Given the description of an element on the screen output the (x, y) to click on. 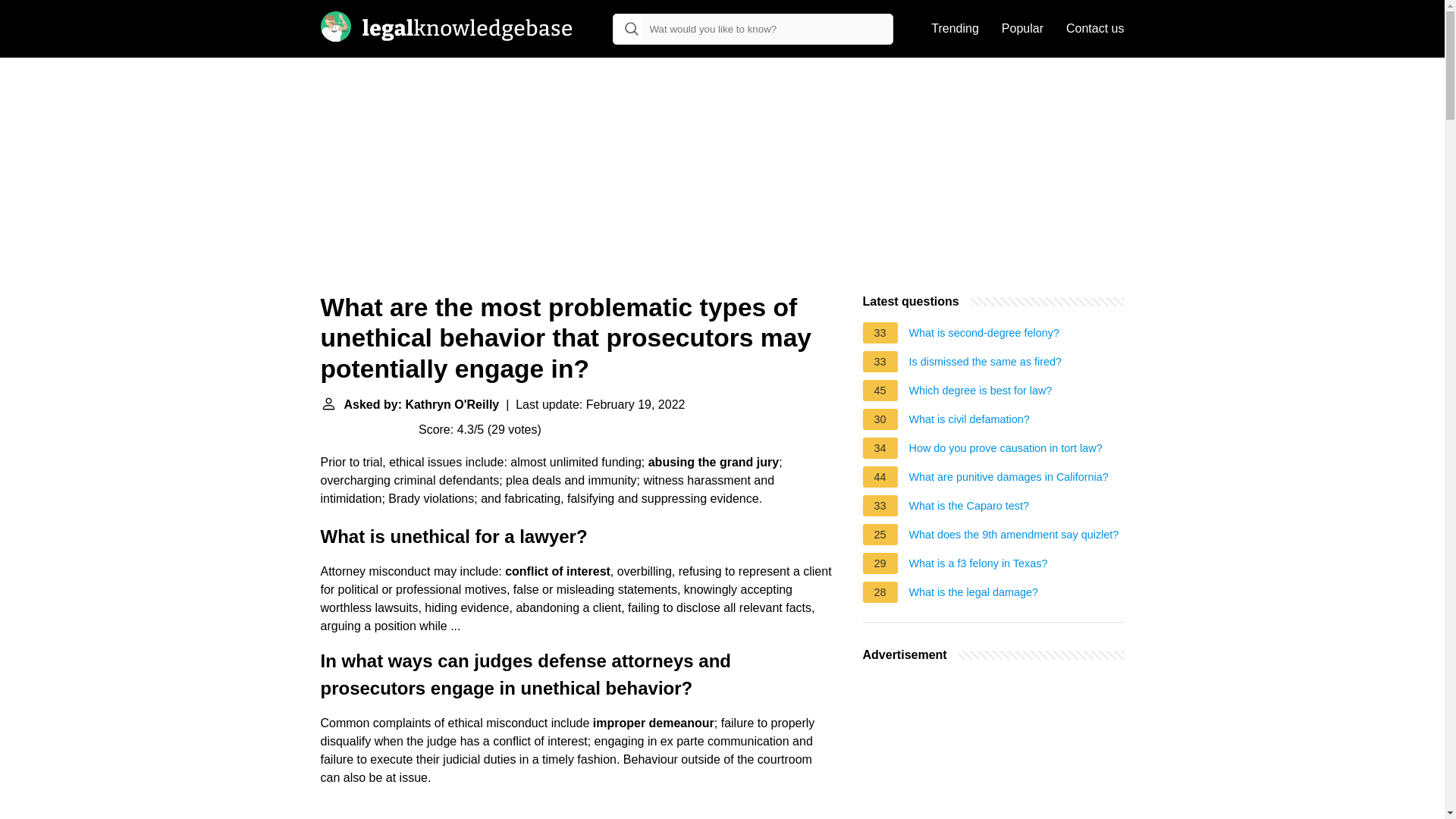
Is dismissed the same as fired? (985, 363)
What is the legal damage? (973, 594)
What is a f3 felony in Texas? (978, 565)
What is second-degree felony? (983, 334)
What are punitive damages in California? (1008, 478)
Which degree is best for law? (980, 392)
What is the Caparo test? (968, 507)
How do you prove causation in tort law? (1005, 450)
What does the 9th amendment say quizlet? (1013, 536)
Contact us (1094, 28)
Popular (1022, 28)
What is civil defamation? (968, 421)
Trending (954, 28)
